Given the description of an element on the screen output the (x, y) to click on. 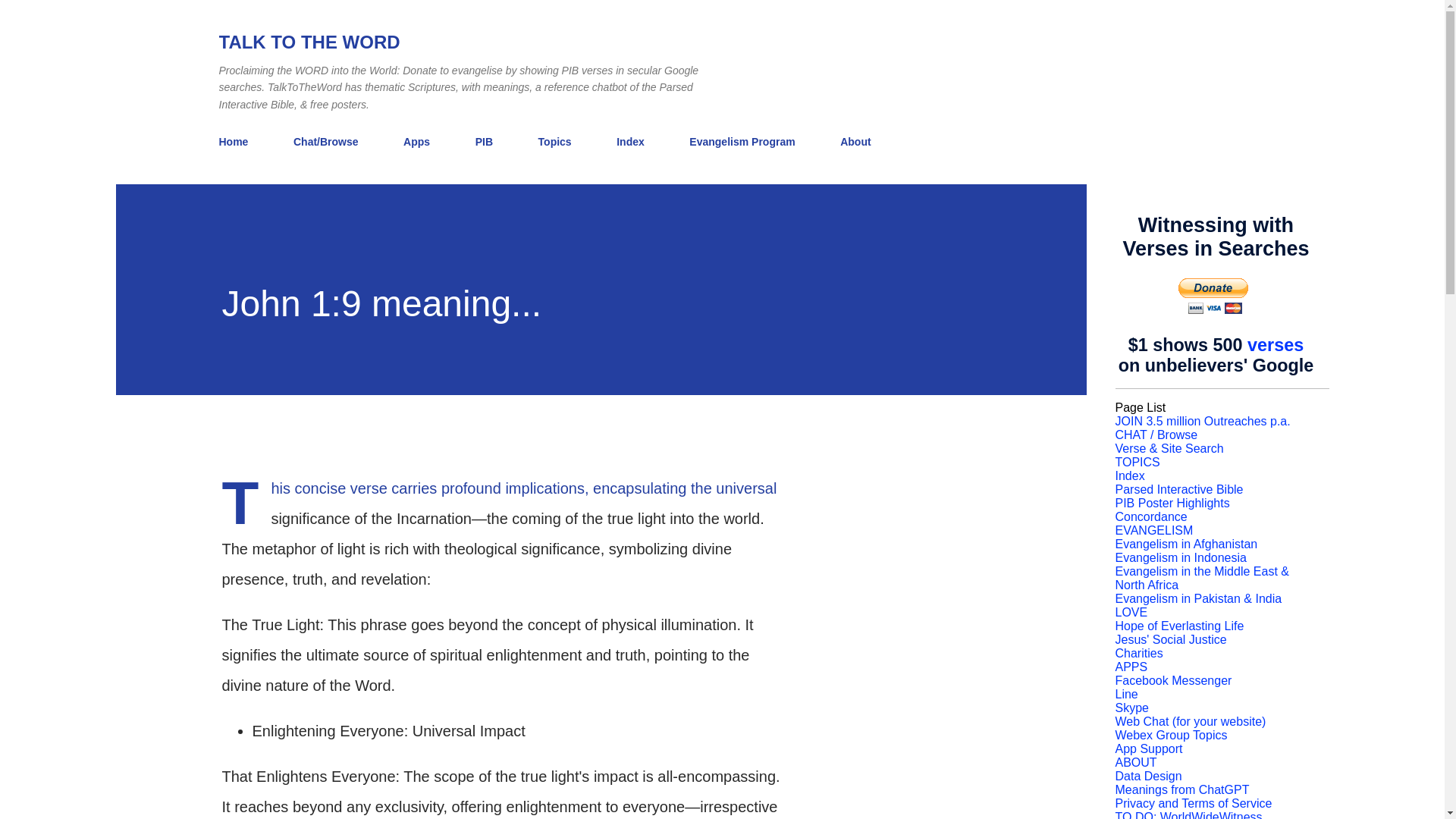
Evangelism Program (741, 141)
Home (237, 141)
Concordance (1150, 516)
JOIN 3.5 million Outreaches p.a. (1202, 420)
PIB Poster Highlights (1171, 502)
About (855, 141)
Index (630, 141)
Index (1129, 475)
Parsed Interactive Bible (1179, 489)
PayPal - The safer, easier way to pay online! (1213, 295)
